Given the description of an element on the screen output the (x, y) to click on. 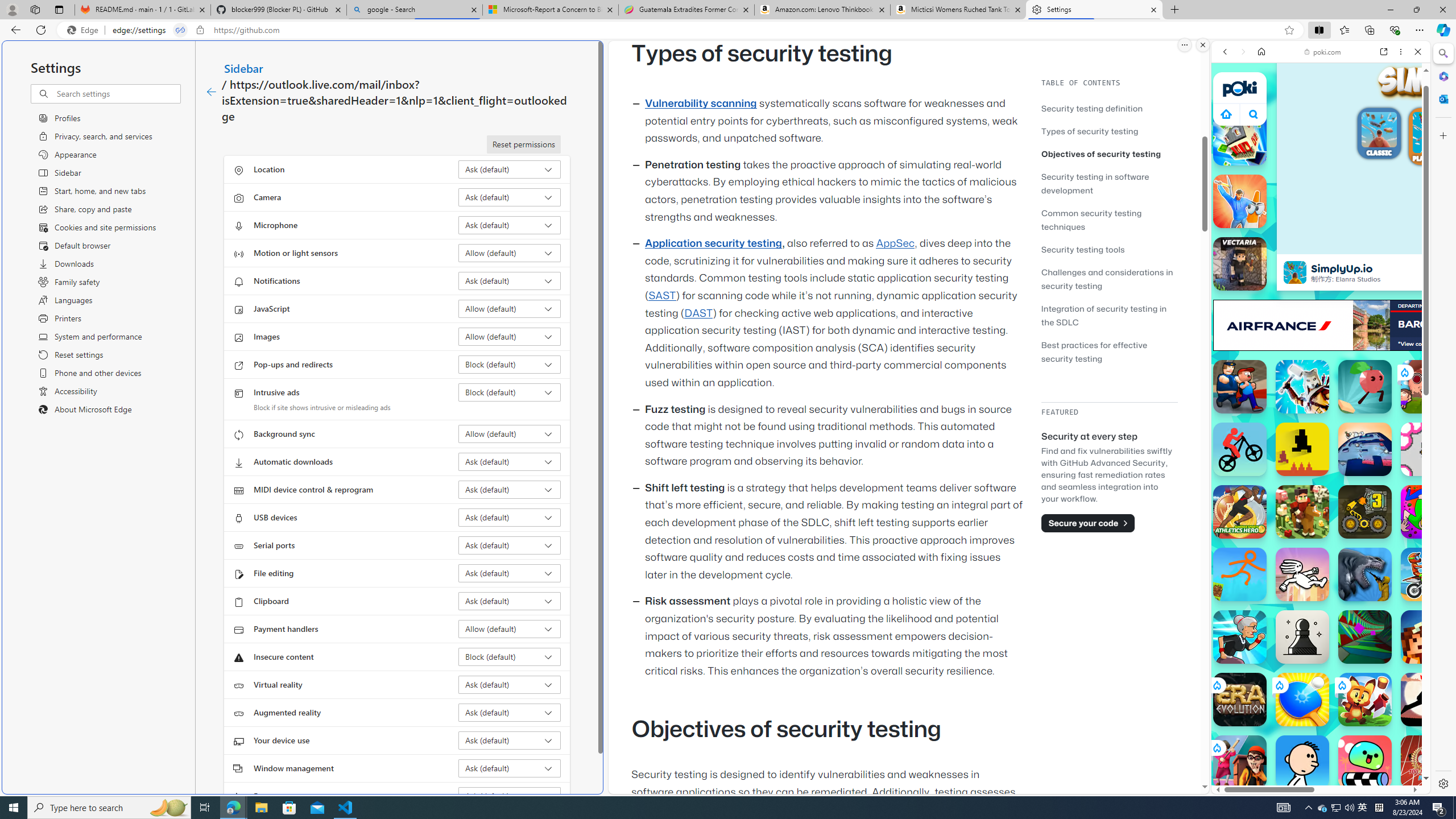
Shooting Games (1320, 295)
Show More Io Games (1390, 351)
Challenges and considerations in security testing (1109, 279)
Level Devil Level Devil (1302, 448)
Eat the world Eat the world (1427, 386)
Blumgi Slime Blumgi Slime (1364, 761)
Show More Games for Girls (1390, 407)
Lurkers.io (1427, 636)
Apple Knight: Farmers Market (1302, 511)
Car Games (1320, 267)
Types of security testing (1109, 130)
Io Games (1320, 351)
Games for Girls (1320, 407)
